Given the description of an element on the screen output the (x, y) to click on. 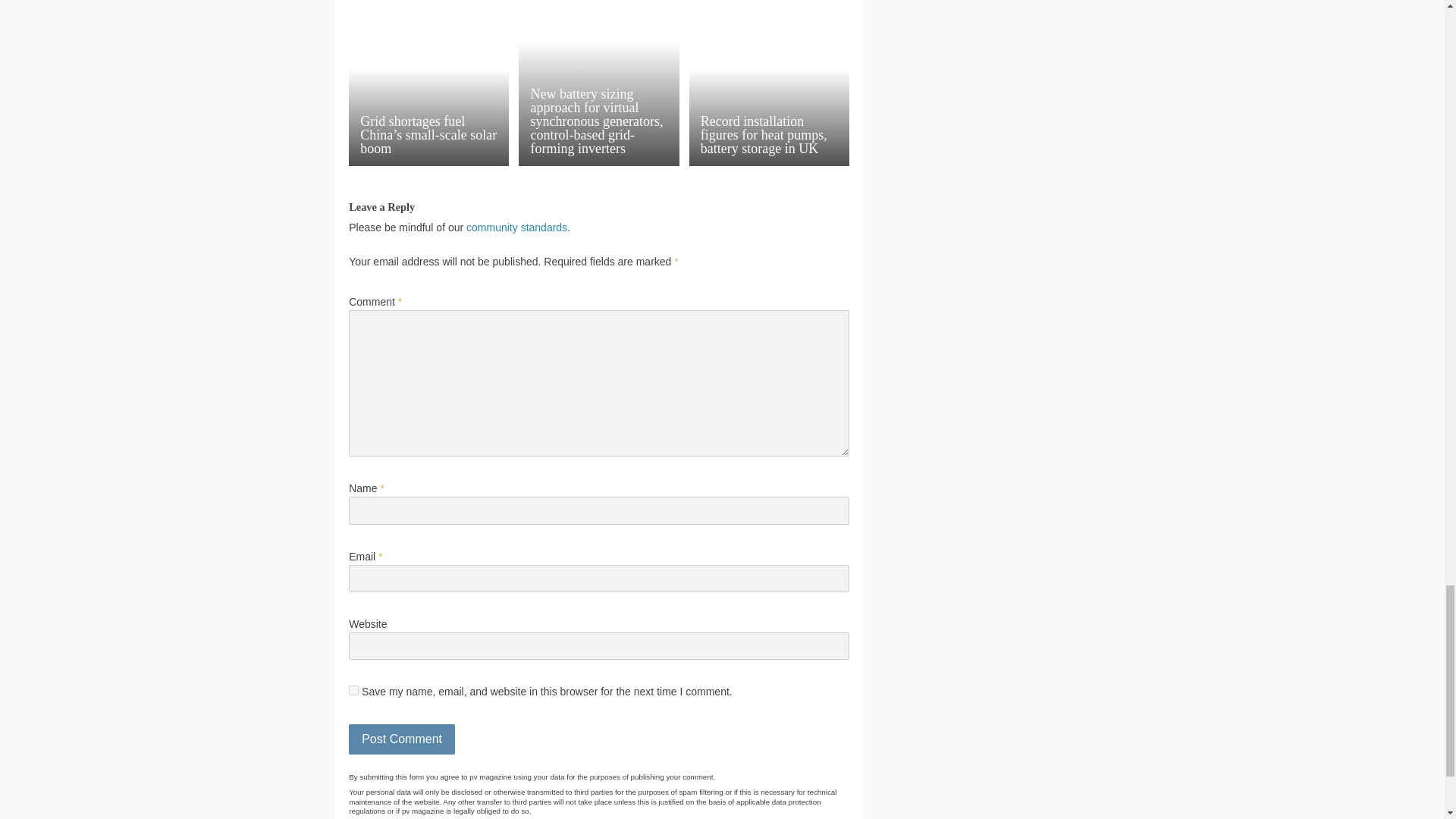
yes (353, 690)
Post Comment (401, 738)
